Given the description of an element on the screen output the (x, y) to click on. 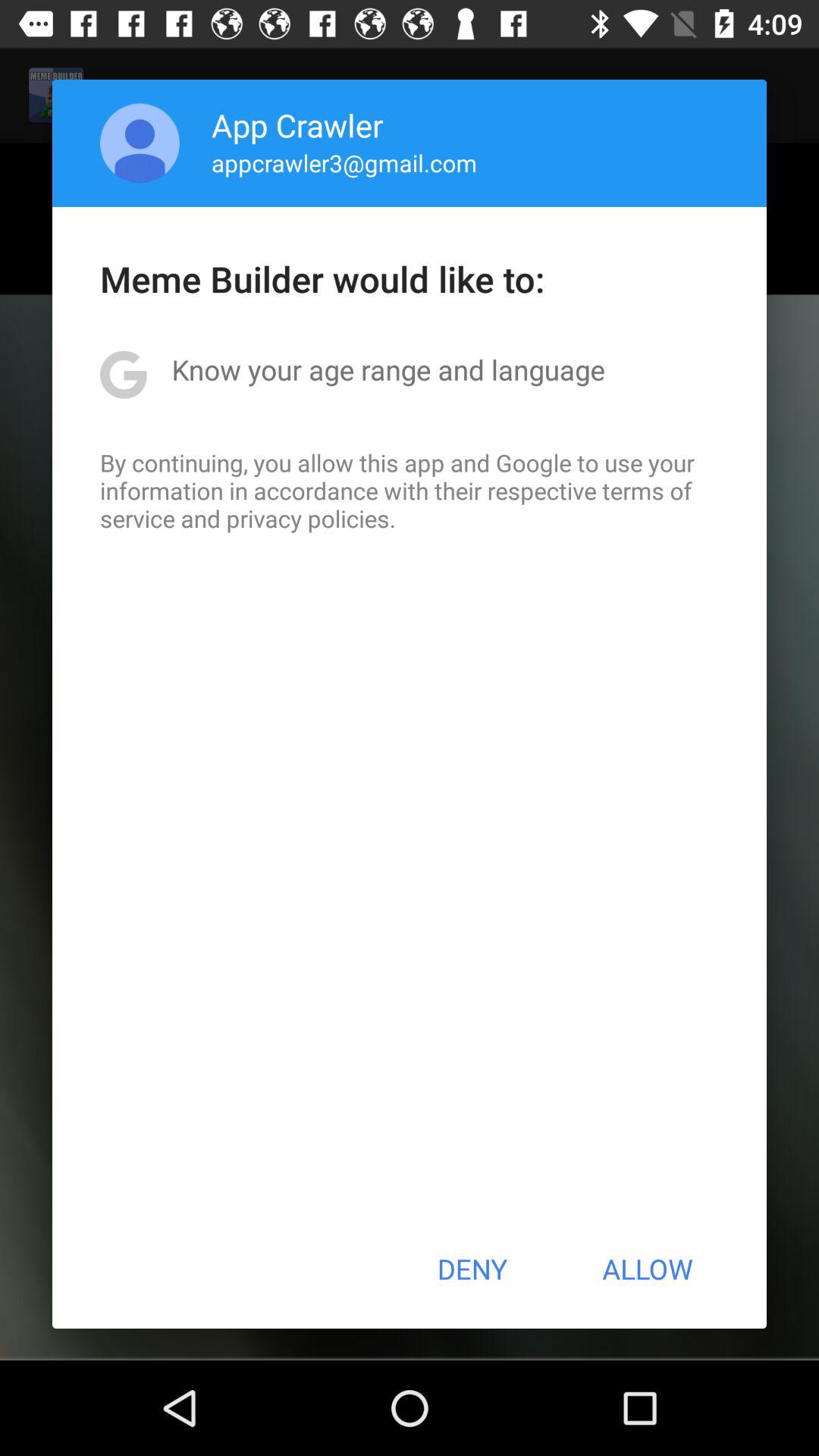
launch the deny icon (471, 1268)
